Given the description of an element on the screen output the (x, y) to click on. 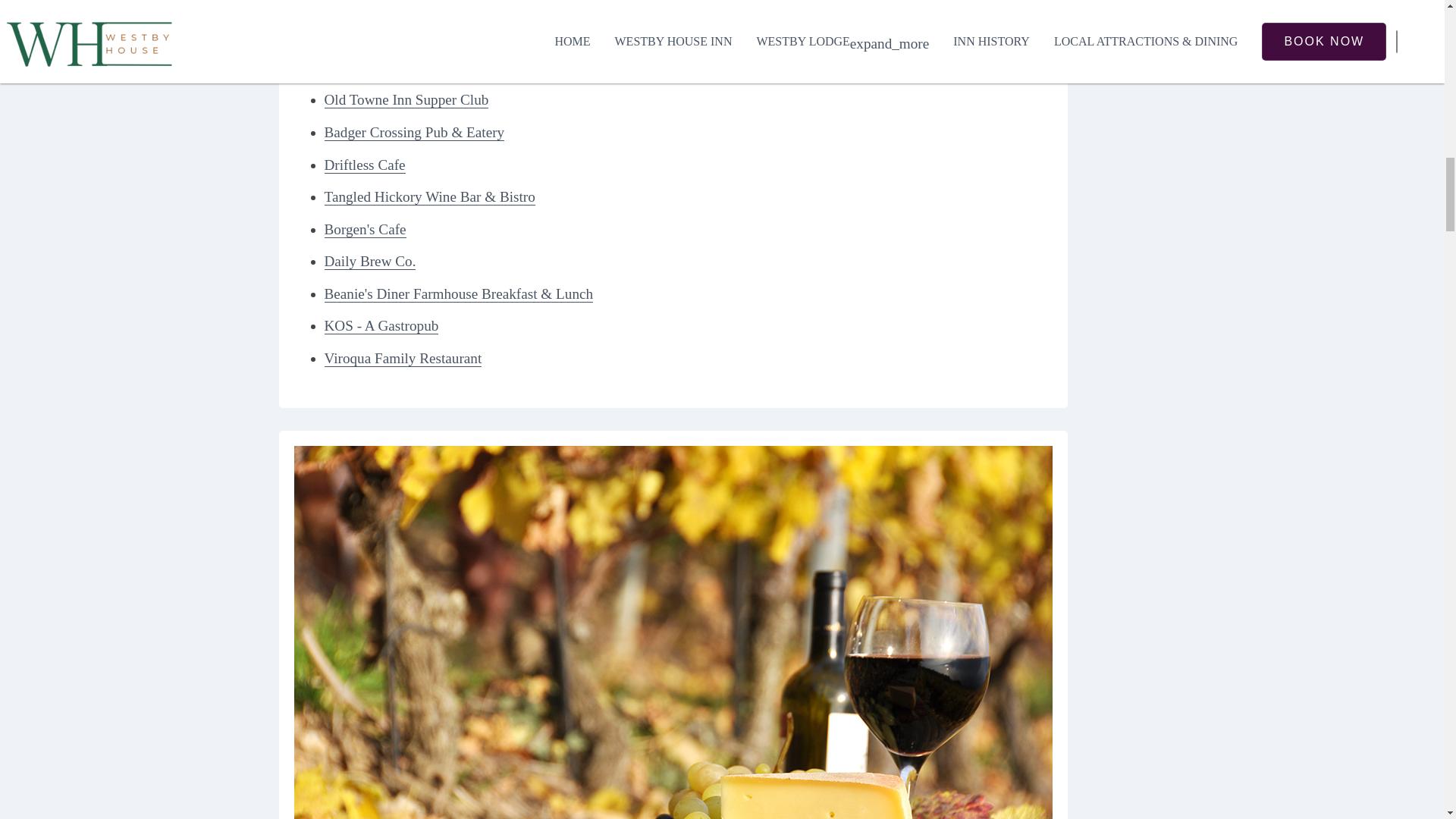
Daily Brew Co. (370, 261)
KOS - A Gastropub (381, 325)
Viroqua Family Restaurant (402, 358)
Borgen's Cafe (365, 229)
Driftless Cafe (365, 165)
Old Towne Inn Supper Club (406, 99)
